Given the description of an element on the screen output the (x, y) to click on. 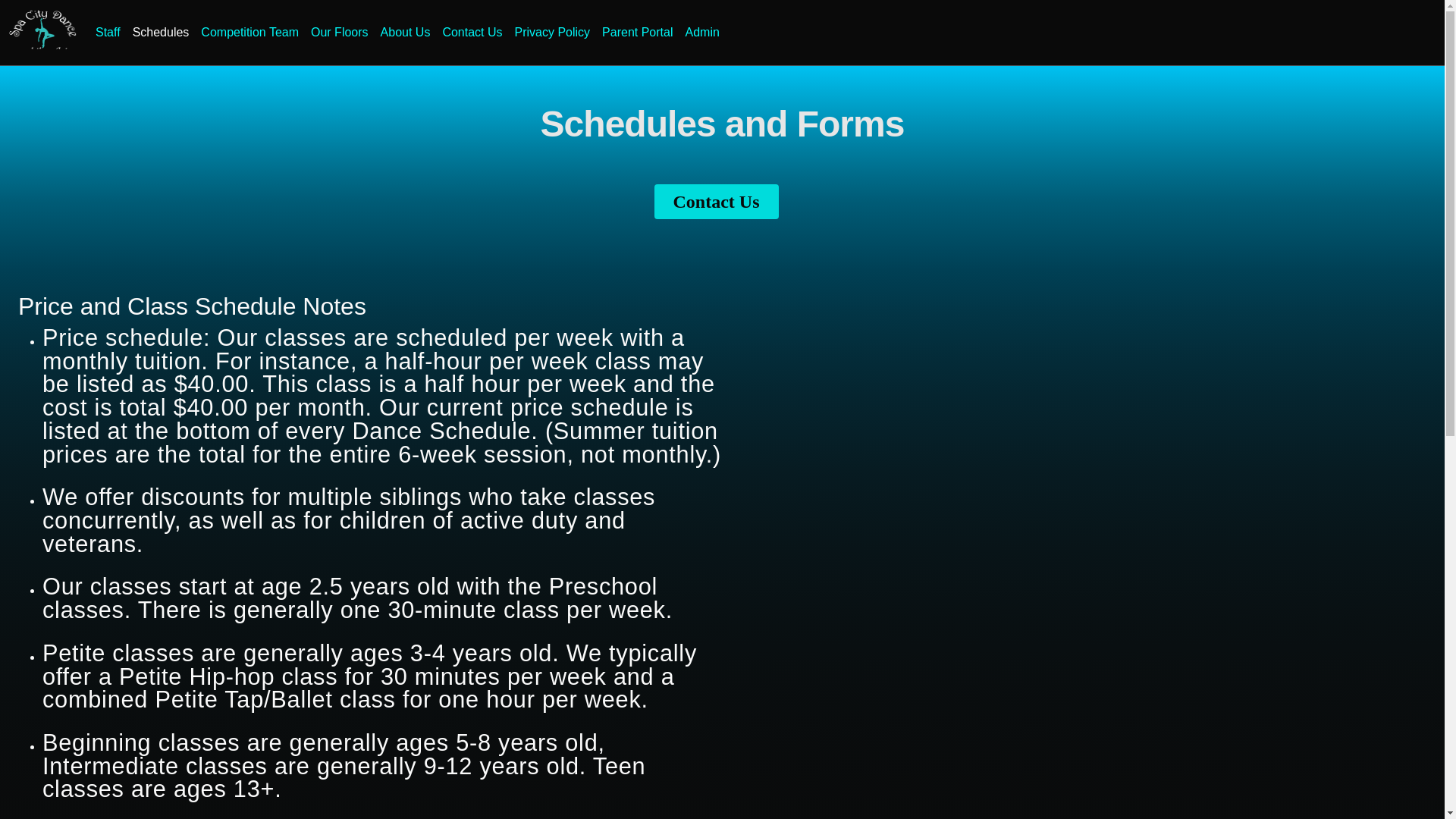
Contact Us (715, 201)
Parent Portal (636, 32)
Contact Us (471, 32)
Staff (107, 32)
Competition Team (249, 32)
About Us (405, 32)
Privacy Policy (552, 32)
Admin (702, 32)
Schedules (160, 32)
Our Floors (339, 32)
